Given the description of an element on the screen output the (x, y) to click on. 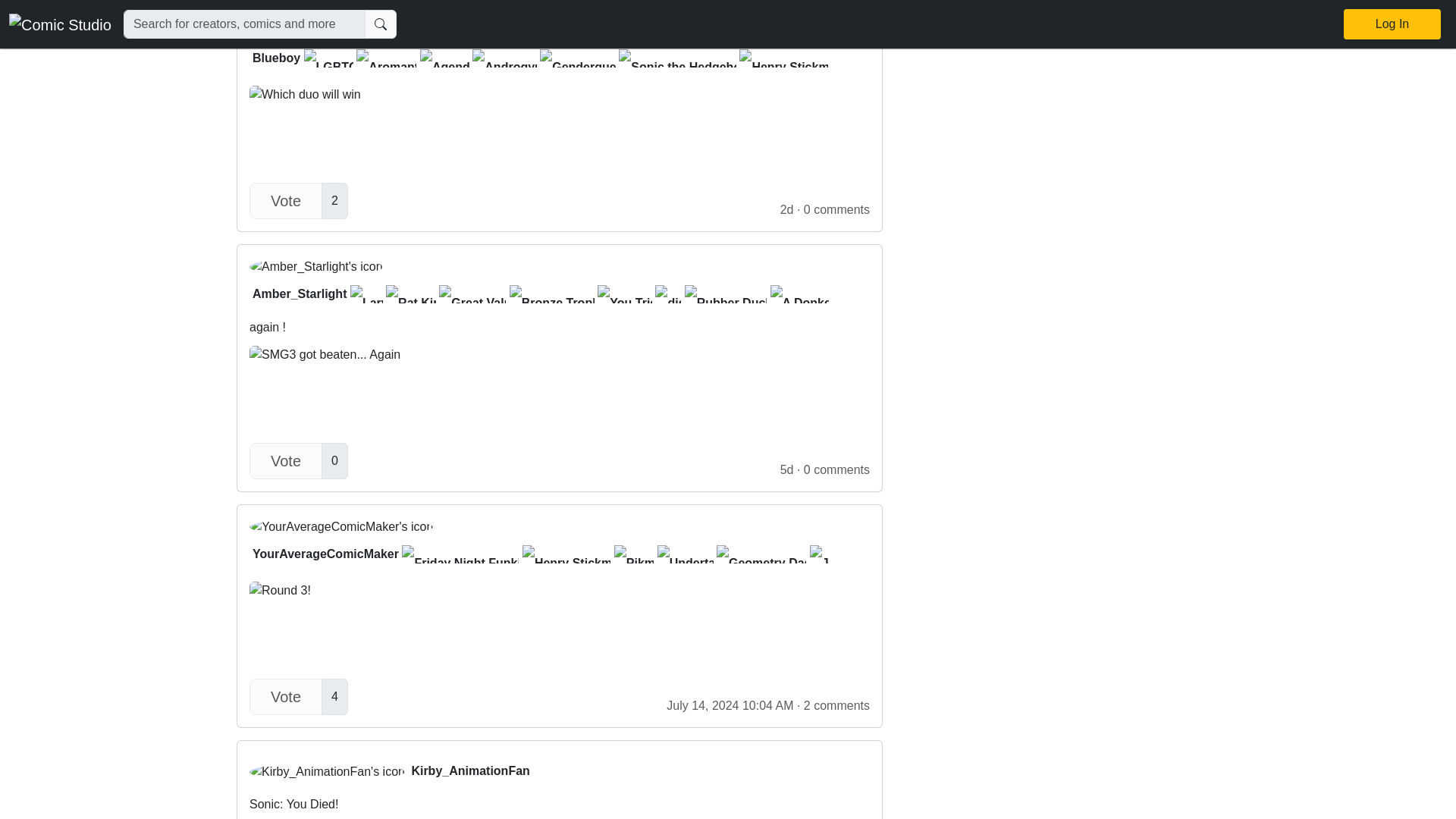
Vote (284, 696)
Henry Stickmin (783, 58)
Vote (284, 461)
Super Smash Bros (1145, 58)
again ! (558, 338)
Cult of the Lamb (1251, 58)
Aromantic (386, 58)
Genderqueer (577, 58)
Super Animal Royale (891, 58)
Dragon Ball (1337, 58)
Vote (284, 200)
Sonic: You Died! (558, 544)
Androgyne (558, 807)
Sonic the Hedgehog (503, 58)
